Given the description of an element on the screen output the (x, y) to click on. 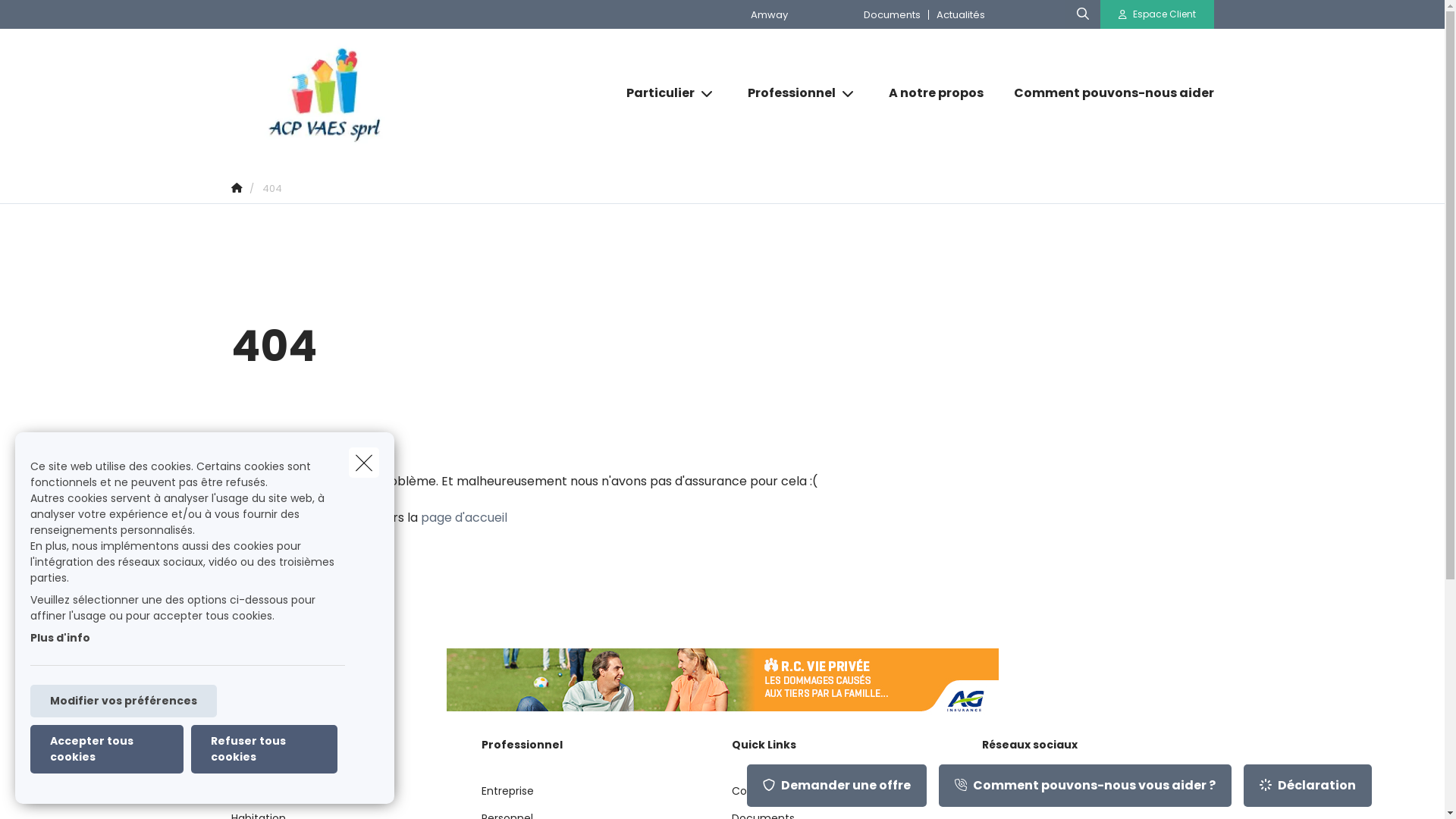
Comment pouvons-nous vous aider ? Element type: text (1084, 785)
A notre propos Element type: text (935, 92)
Espace Client Element type: text (1157, 14)
Entreprise Element type: text (506, 796)
Amway Element type: text (769, 13)
Facebook Element type: text (1016, 797)
Professionnel Element type: text (785, 92)
Particulier Element type: text (654, 92)
Rechercher Element type: text (56, 18)
Contact Element type: text (753, 796)
Plus d'info Element type: text (60, 637)
Accepter tous cookies Element type: text (106, 748)
Demander une offre Element type: text (836, 785)
page d'accueil Element type: text (463, 517)
Documents Element type: text (892, 13)
Comment pouvons-nous aider Element type: text (1105, 92)
Refuser tous cookies Element type: text (264, 748)
